Given the description of an element on the screen output the (x, y) to click on. 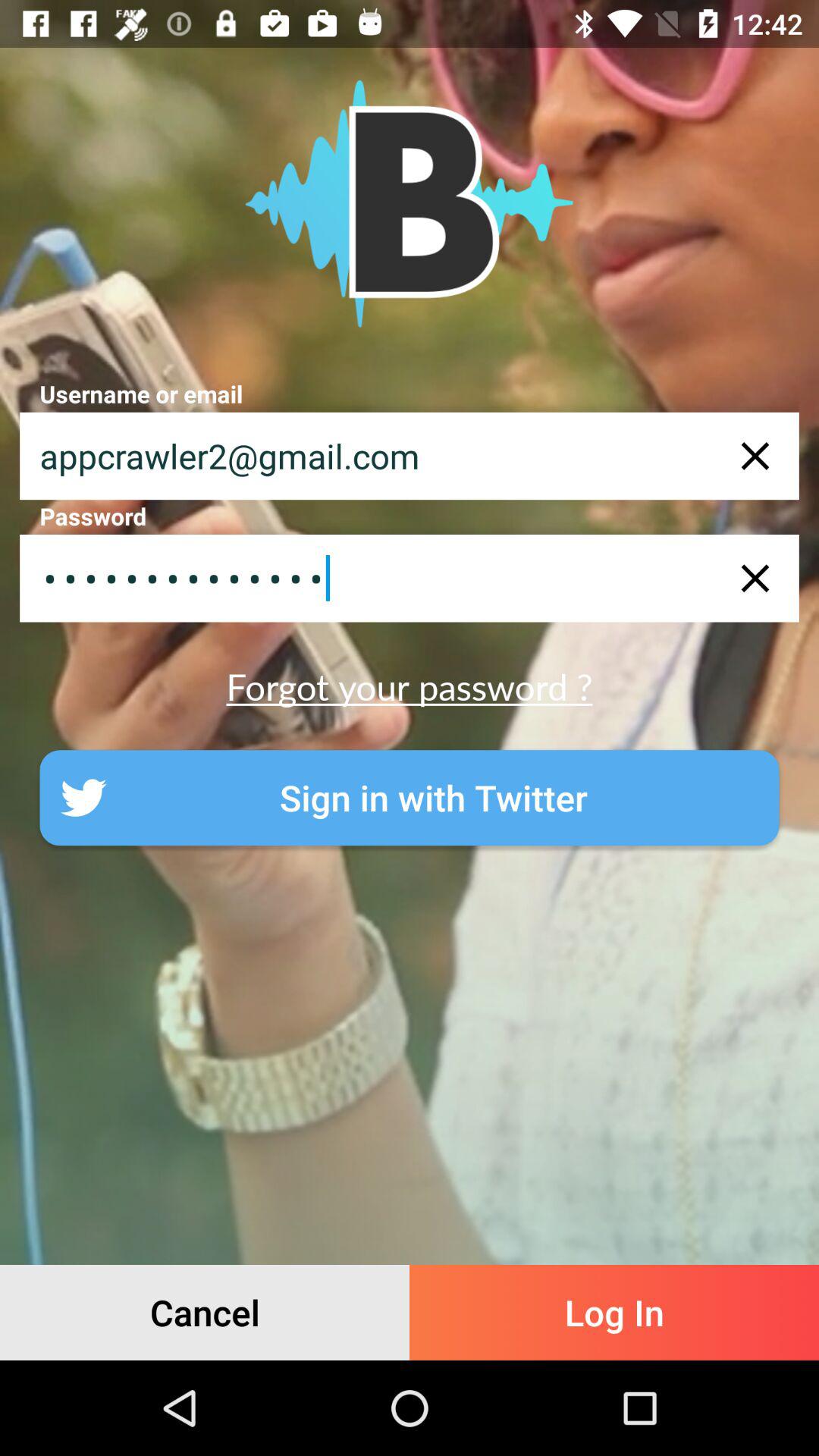
swipe until cancel (204, 1312)
